Given the description of an element on the screen output the (x, y) to click on. 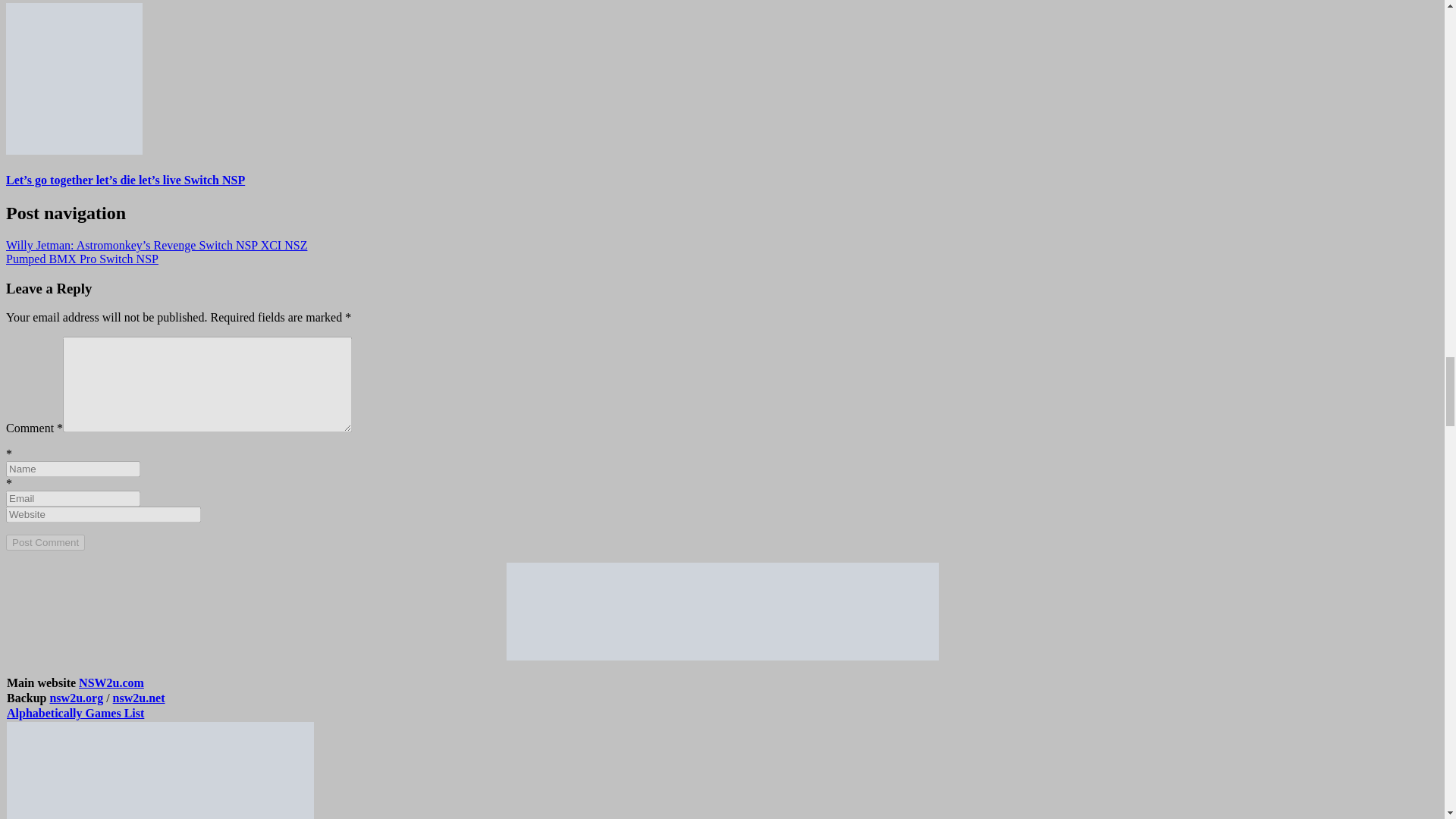
Post Comment (44, 542)
